Given the description of an element on the screen output the (x, y) to click on. 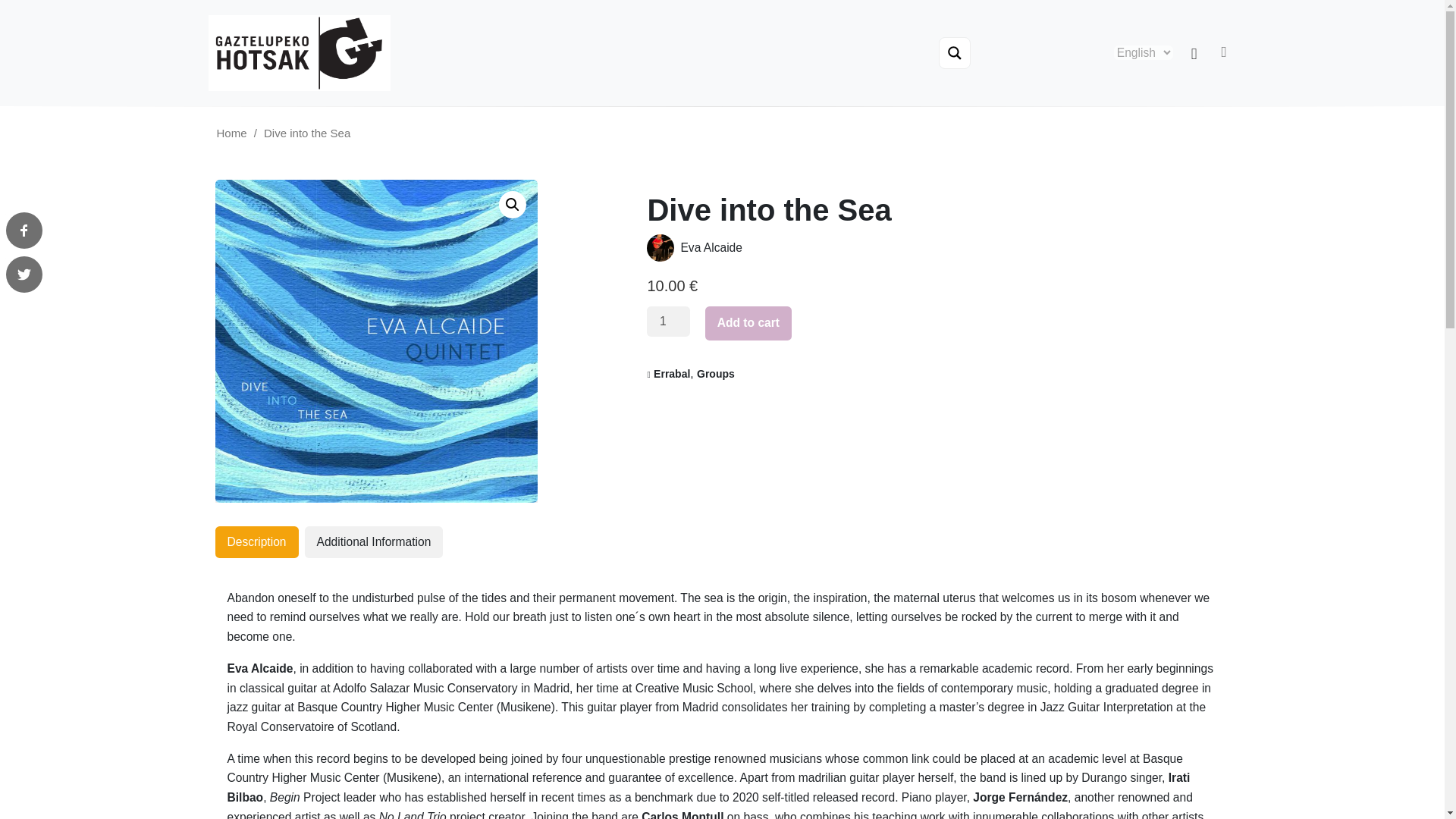
Social Media Auto Publish (665, 6)
